Given the description of an element on the screen output the (x, y) to click on. 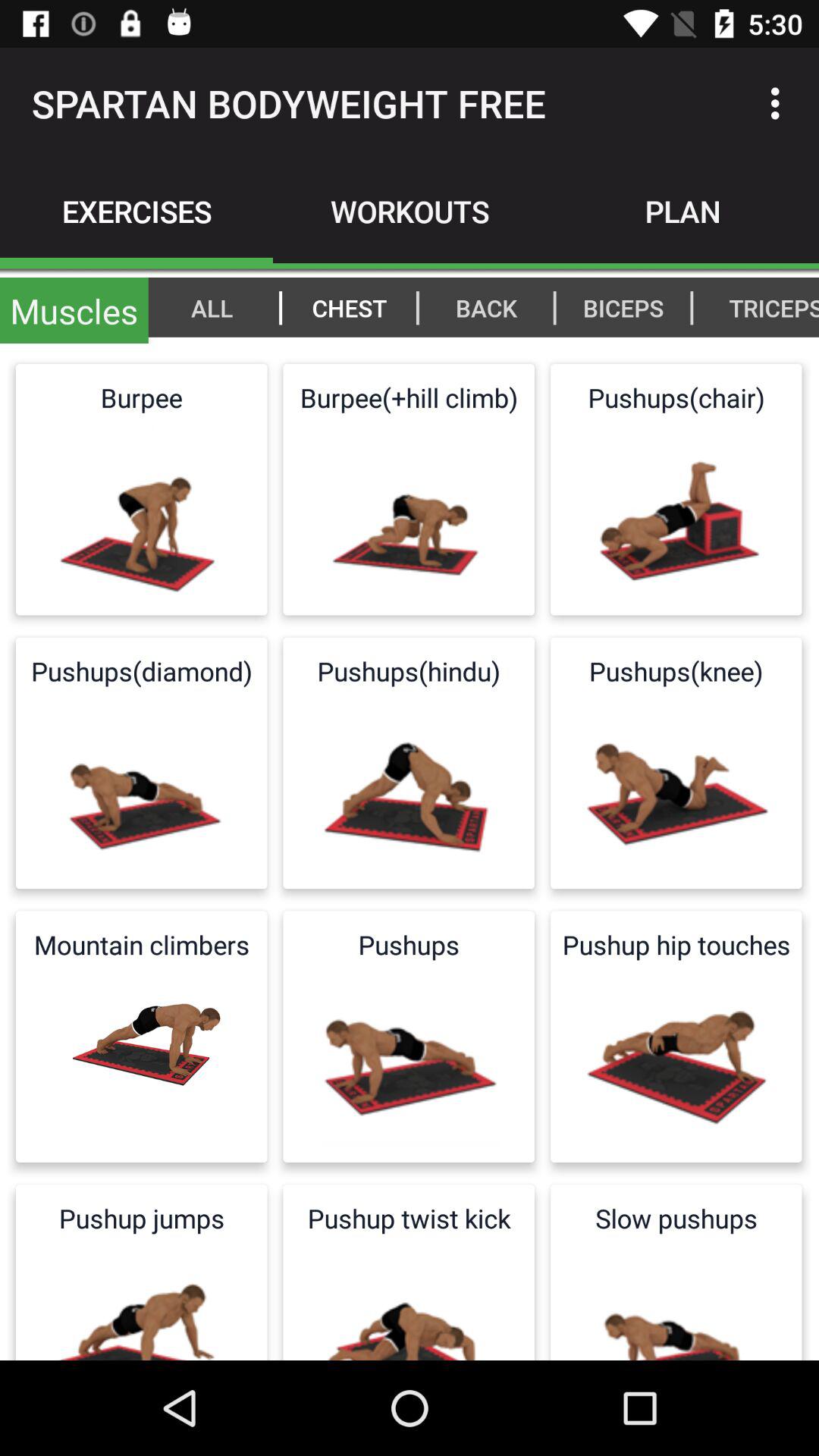
turn off icon to the left of | (623, 307)
